Given the description of an element on the screen output the (x, y) to click on. 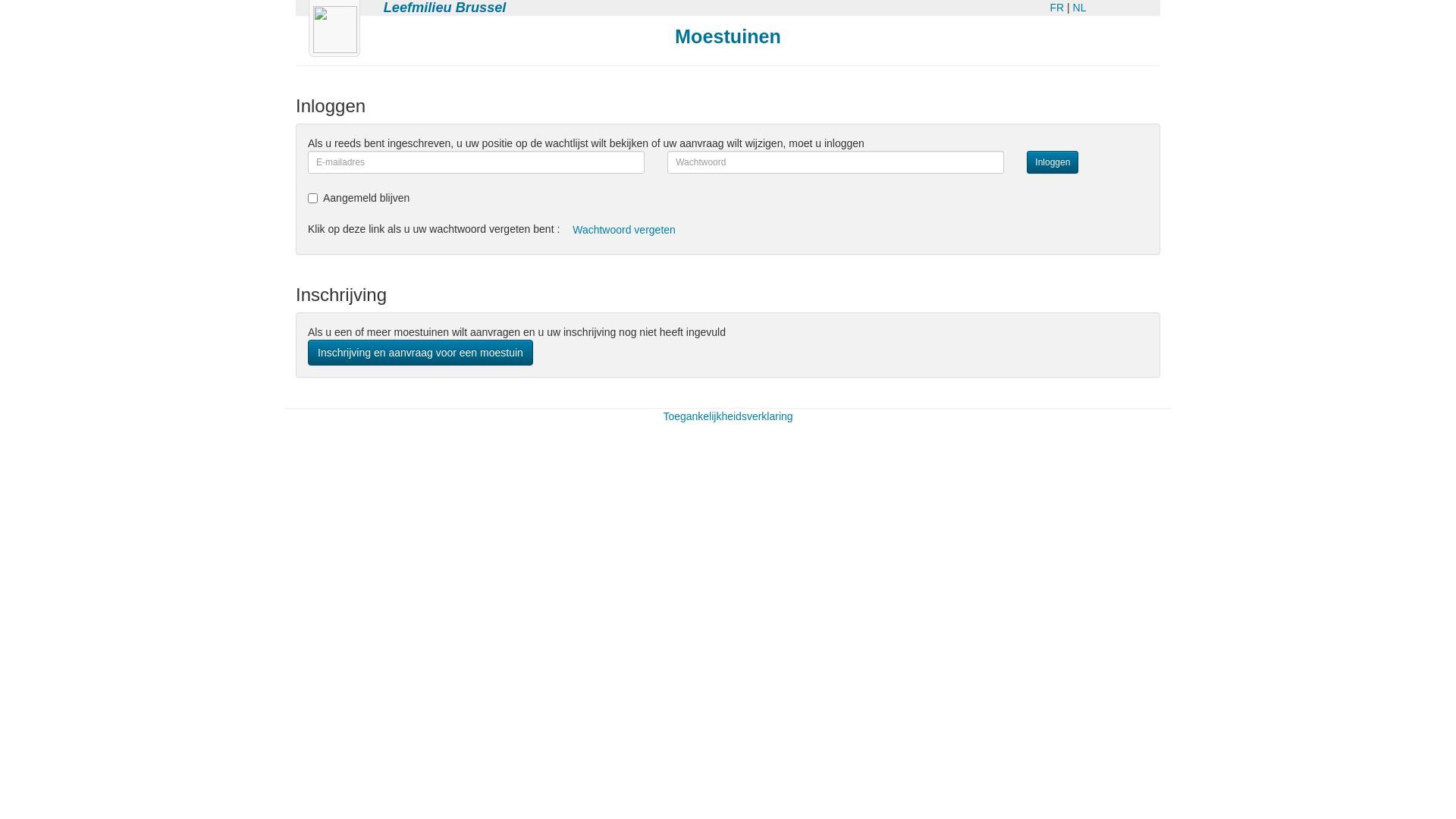
Inloggen Element type: text (1052, 161)
NL Element type: text (1079, 7)
Inschrijving en aanvraag voor een moestuin Element type: text (420, 352)
FR Element type: text (1056, 7)
Wachtwoord vergeten Element type: text (623, 229)
Toegankelijkheidsverklaring Element type: text (727, 416)
